Given the description of an element on the screen output the (x, y) to click on. 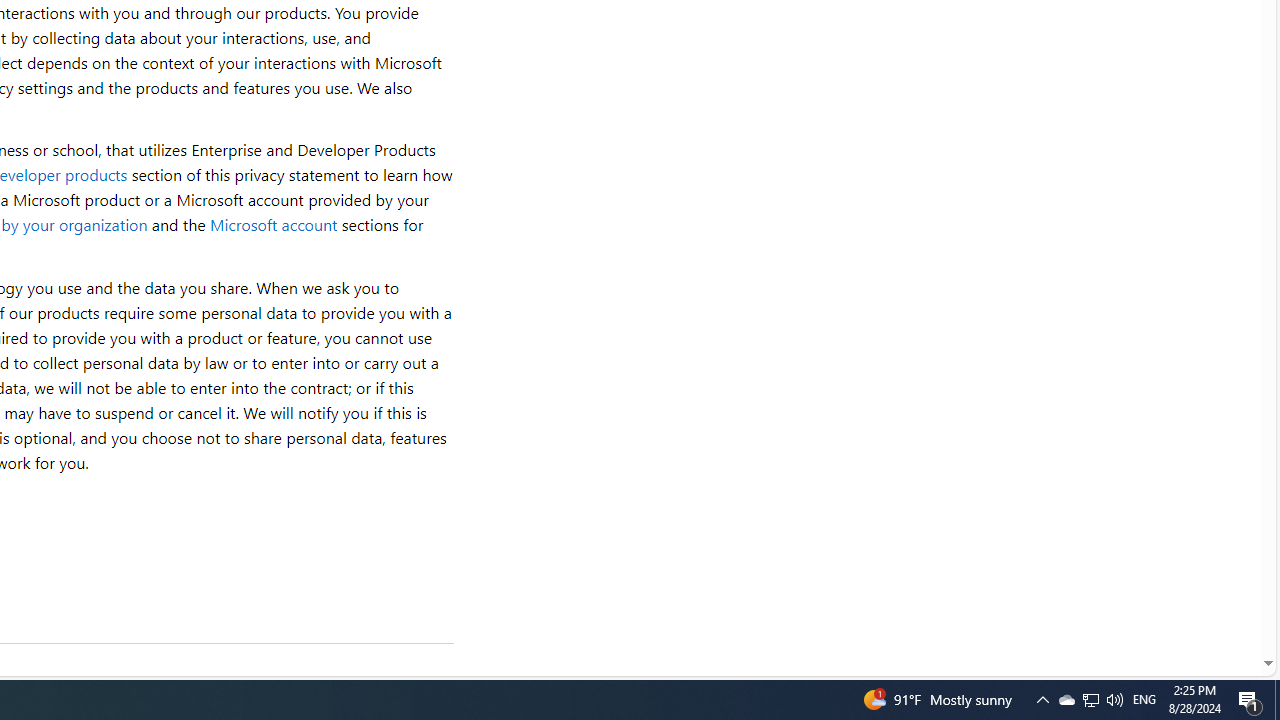
Microsoft account (273, 224)
